Given the description of an element on the screen output the (x, y) to click on. 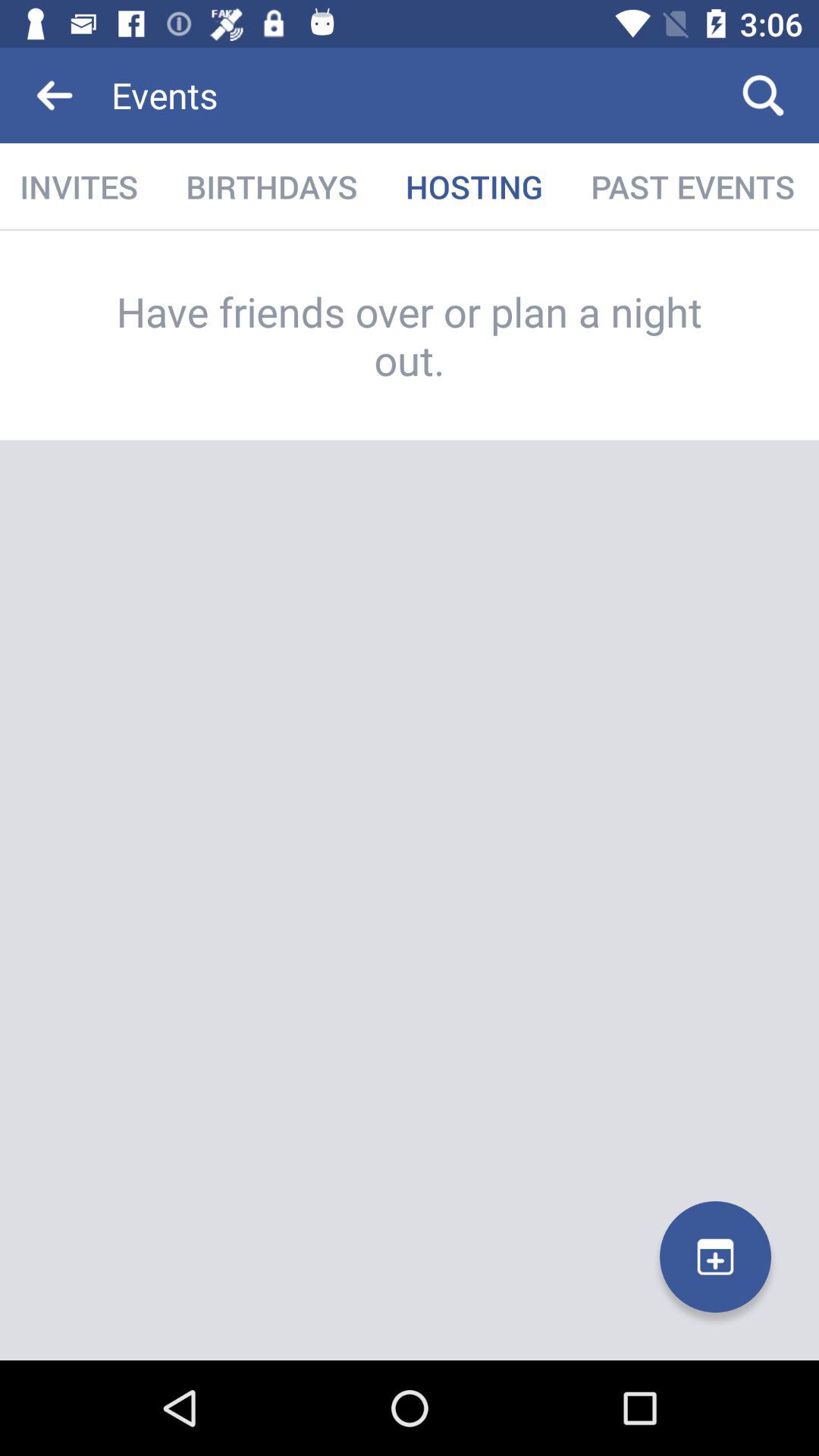
turn on item next to hosting item (271, 186)
